Given the description of an element on the screen output the (x, y) to click on. 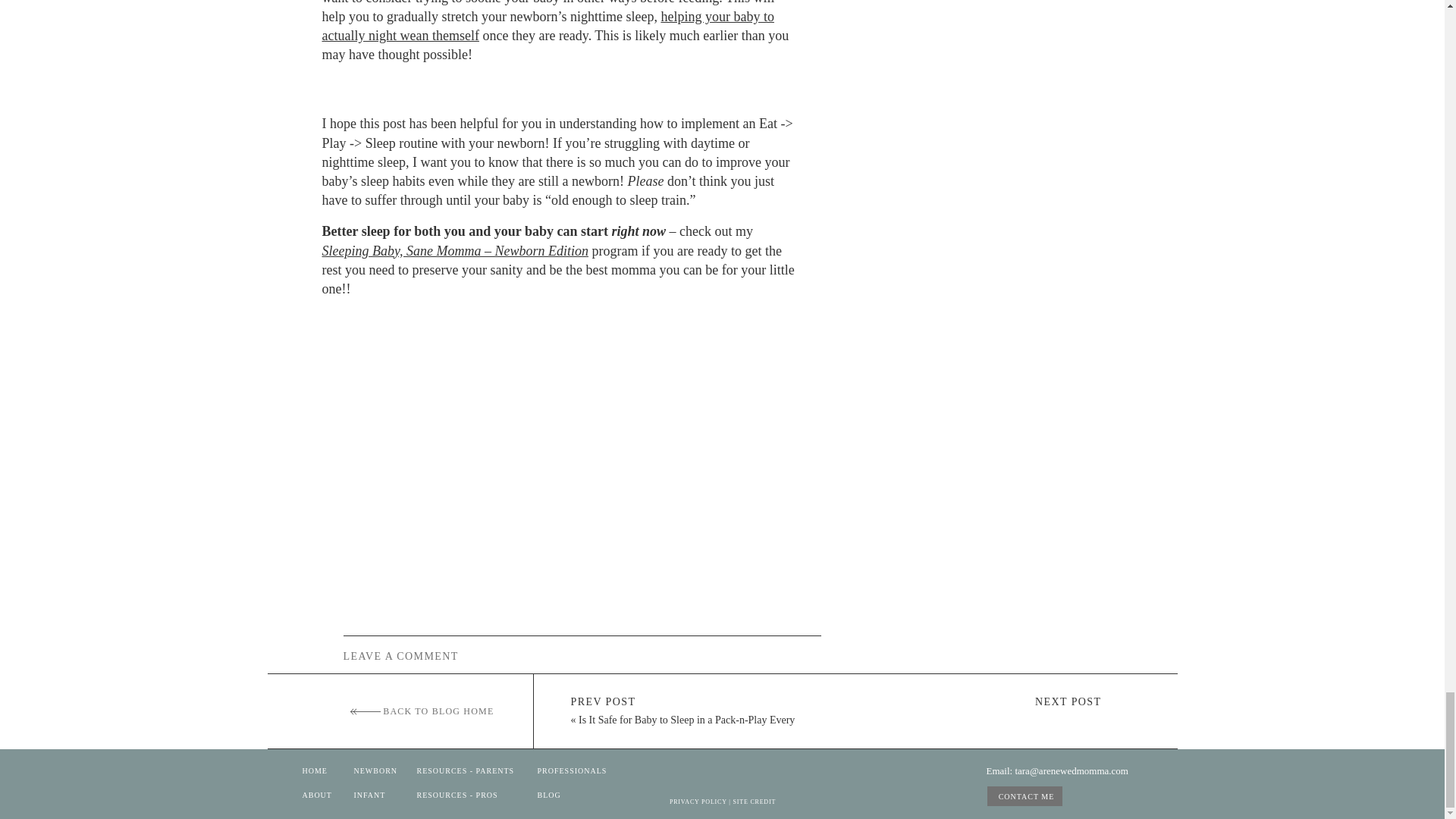
Asset 1 (365, 711)
Asset 1 (365, 711)
BACK TO BLOG HOME (422, 711)
PROFESSIONALS (565, 771)
helping your baby to actually night wean themself (547, 26)
INFANT (373, 795)
RESOURCES - PARENTS (467, 771)
LEAVE A COMMENT (456, 654)
HOME (317, 771)
SITE CREDIT (754, 801)
BLOG (557, 795)
NEWBORN (400, 771)
PRIVACY POLICY (697, 801)
Is It Safe for Baby to Sleep in a Pack-n-Play Every Night? (682, 727)
ABOUT (322, 795)
